Given the description of an element on the screen output the (x, y) to click on. 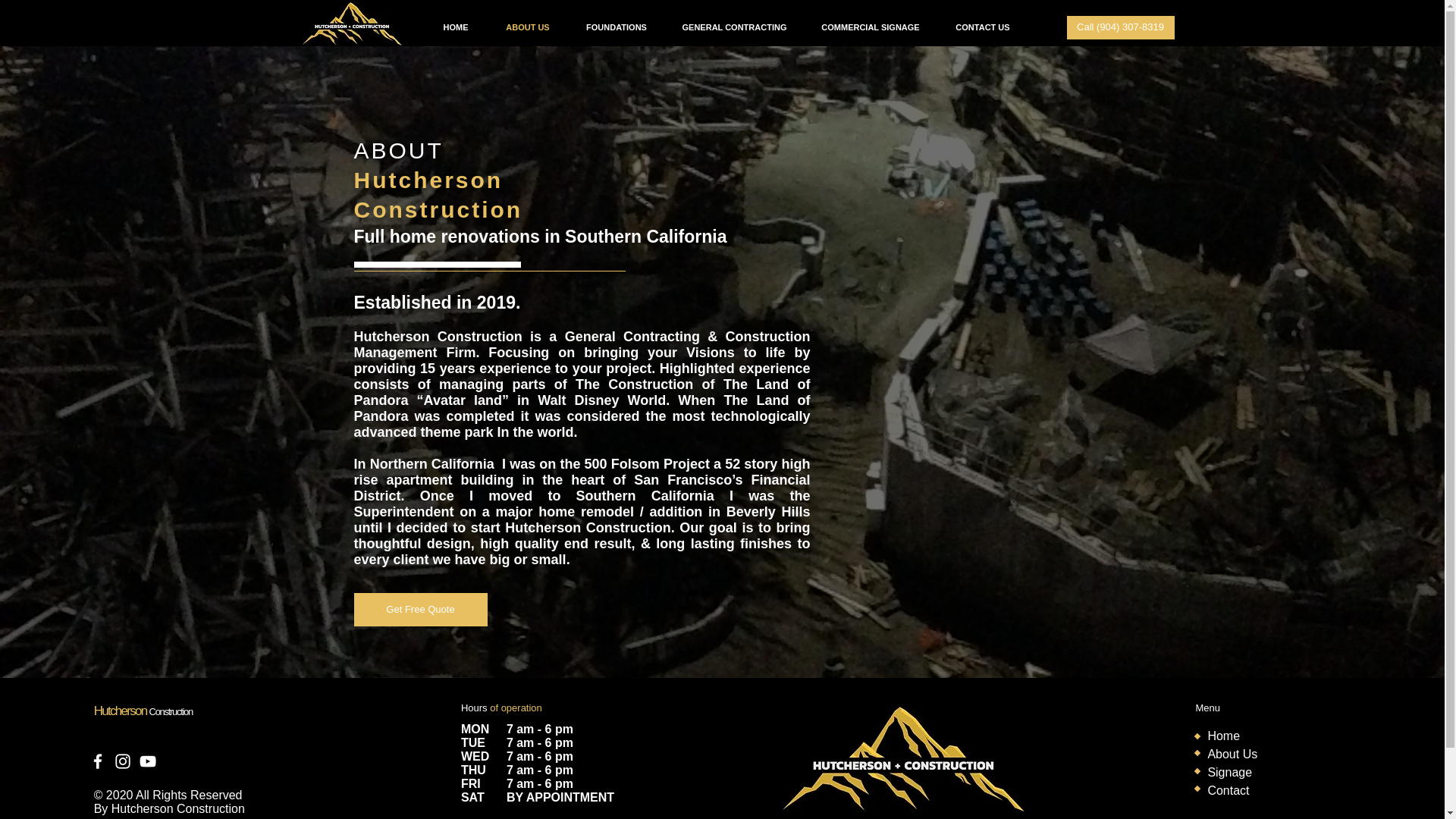
ABOUT US (527, 27)
Get Free Quote (419, 609)
CONTACT US (982, 27)
GENERAL CONTRACTING (734, 27)
Home (1223, 735)
About Us (1232, 753)
COMMERCIAL SIGNAGE (870, 27)
FOUNDATIONS (616, 27)
Contact (1228, 789)
HOME (455, 27)
